Given the description of an element on the screen output the (x, y) to click on. 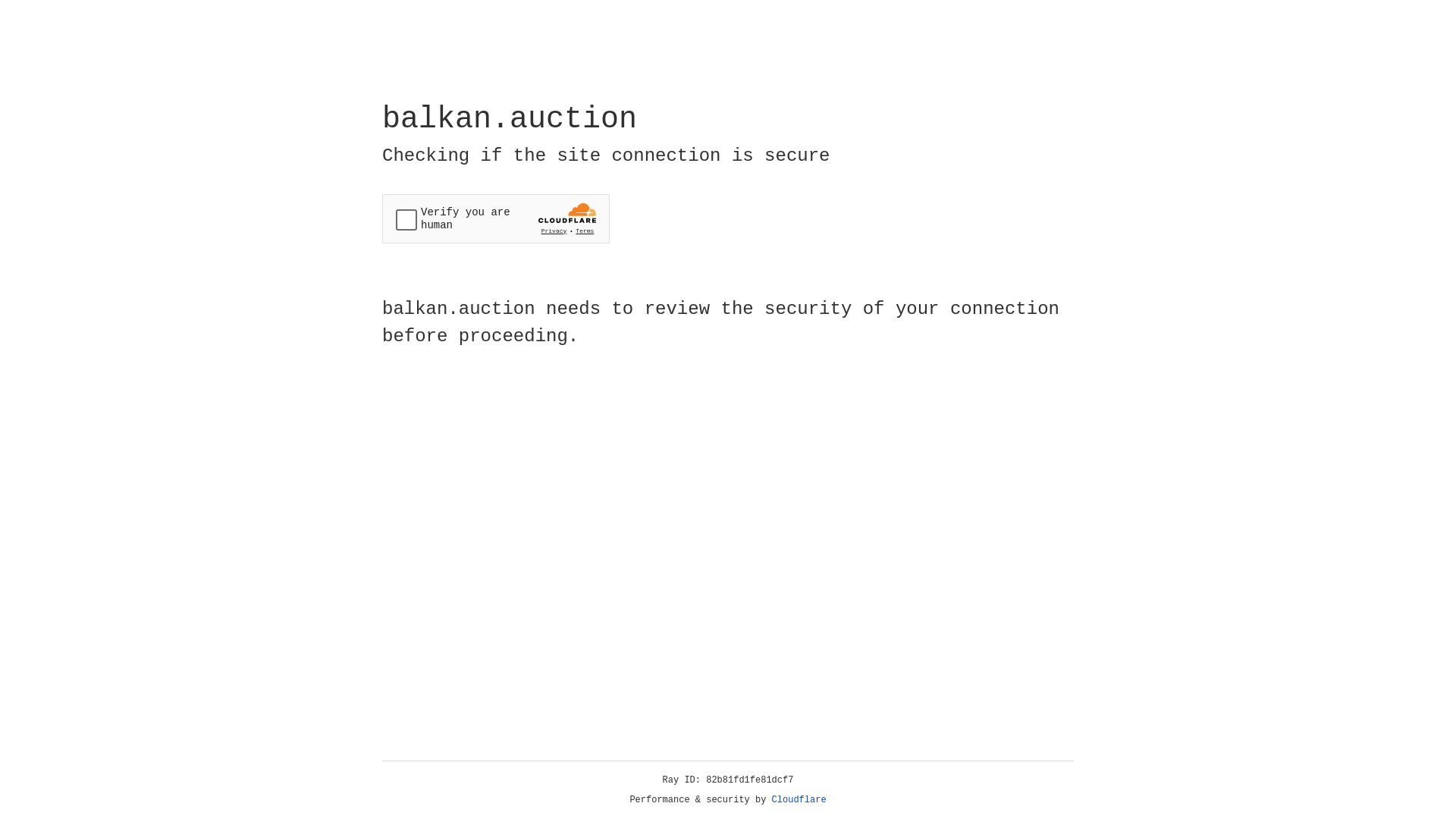
Cloudflare Element type: text (798, 799)
Widget containing a Cloudflare security challenge Element type: hover (495, 218)
